Given the description of an element on the screen output the (x, y) to click on. 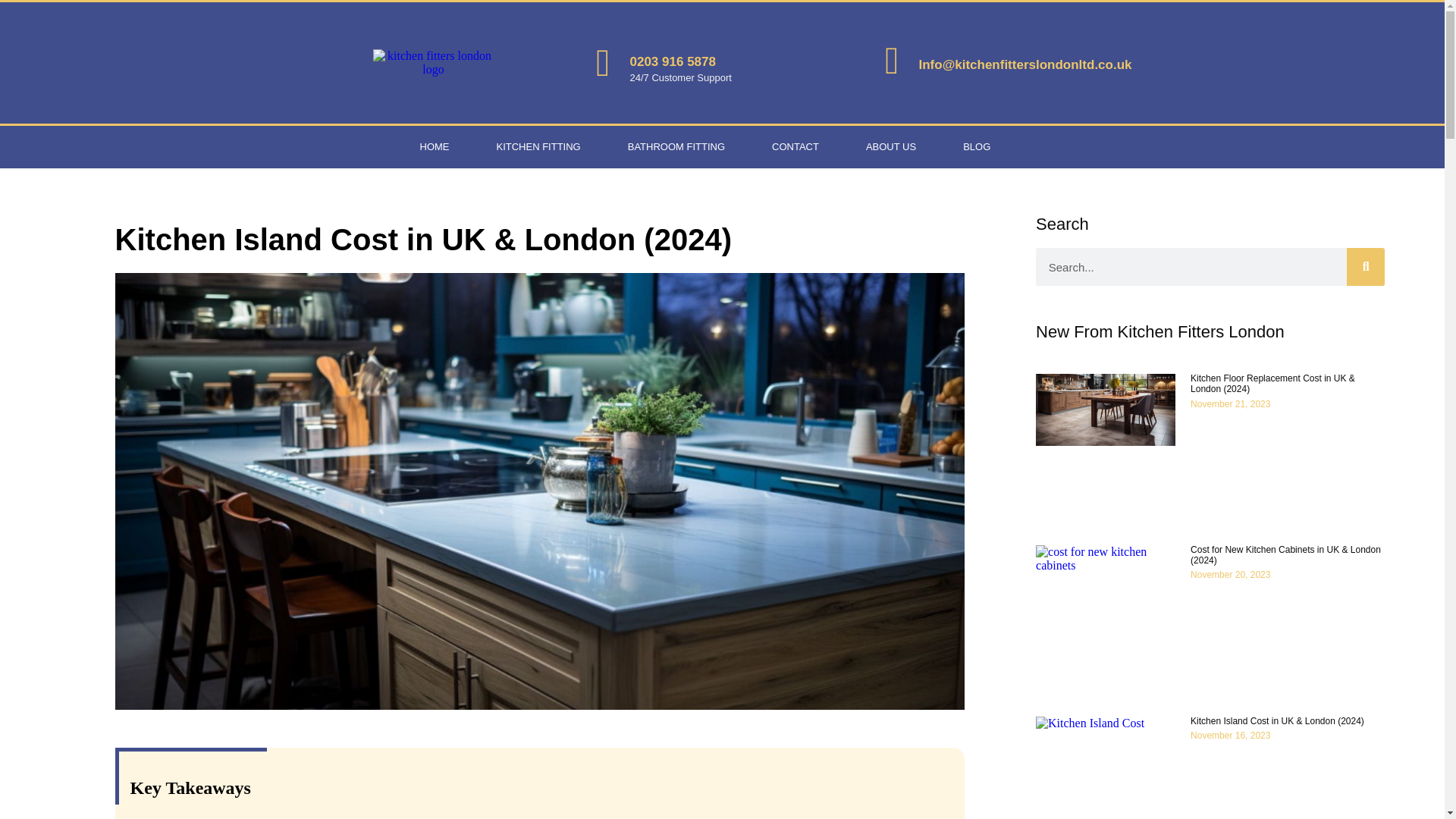
2 (433, 62)
0203 916 5878 (671, 61)
HOME (433, 147)
KITCHEN FITTING (538, 147)
CONTACT (795, 147)
ABOUT US (891, 147)
BATHROOM FITTING (676, 147)
BLOG (976, 147)
